Given the description of an element on the screen output the (x, y) to click on. 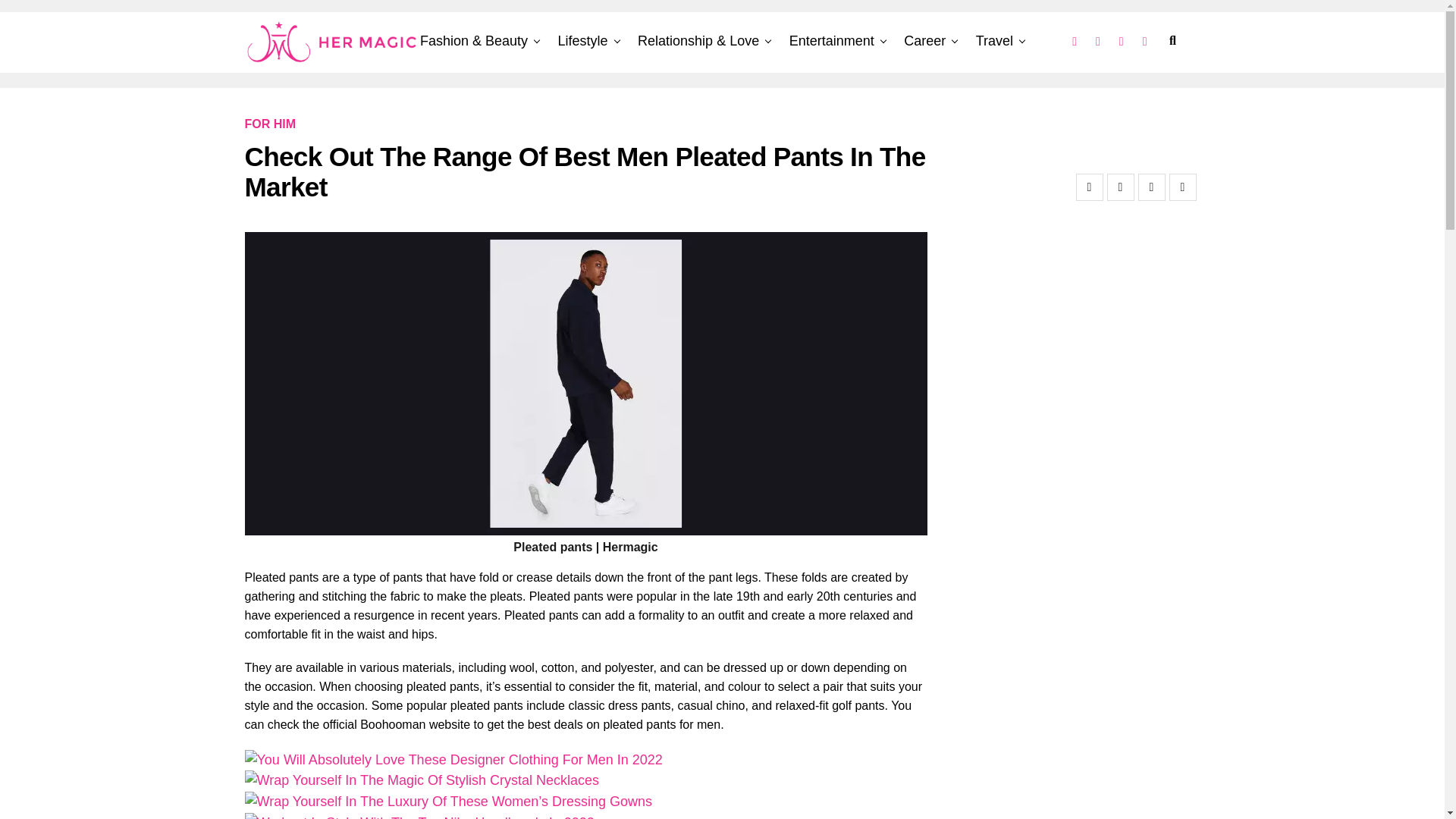
Rakuten Marketing UK (61, 17)
Share on Facebook (1088, 186)
Lifestyle (582, 40)
Tweet This Post (1120, 186)
